Given the description of an element on the screen output the (x, y) to click on. 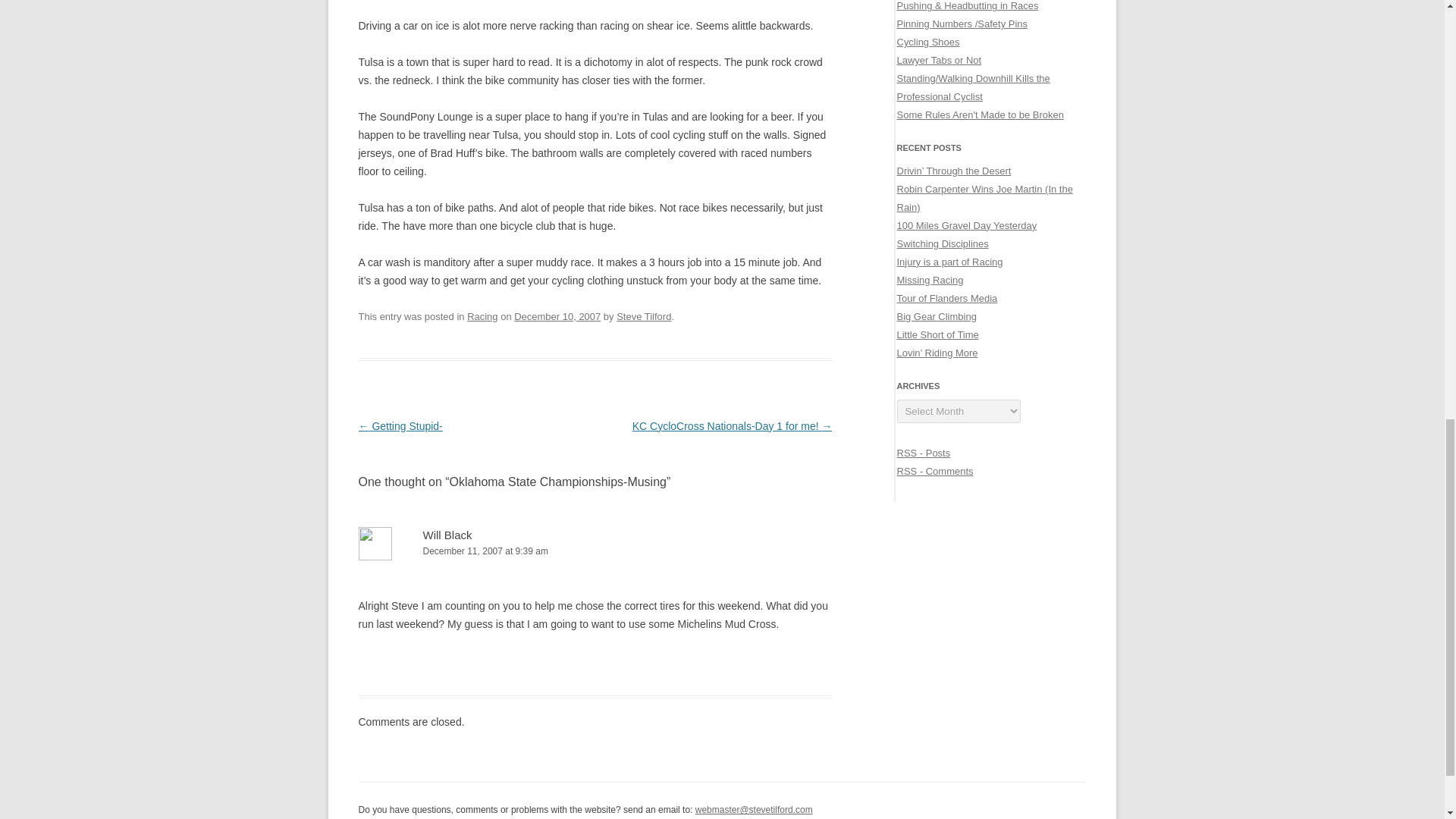
Racing (482, 316)
Steve Tilford (643, 316)
December 10, 2007 (556, 316)
View all posts by Steve Tilford (643, 316)
December 11, 2007 at 9:39 am (594, 551)
9:01 am (556, 316)
